Given the description of an element on the screen output the (x, y) to click on. 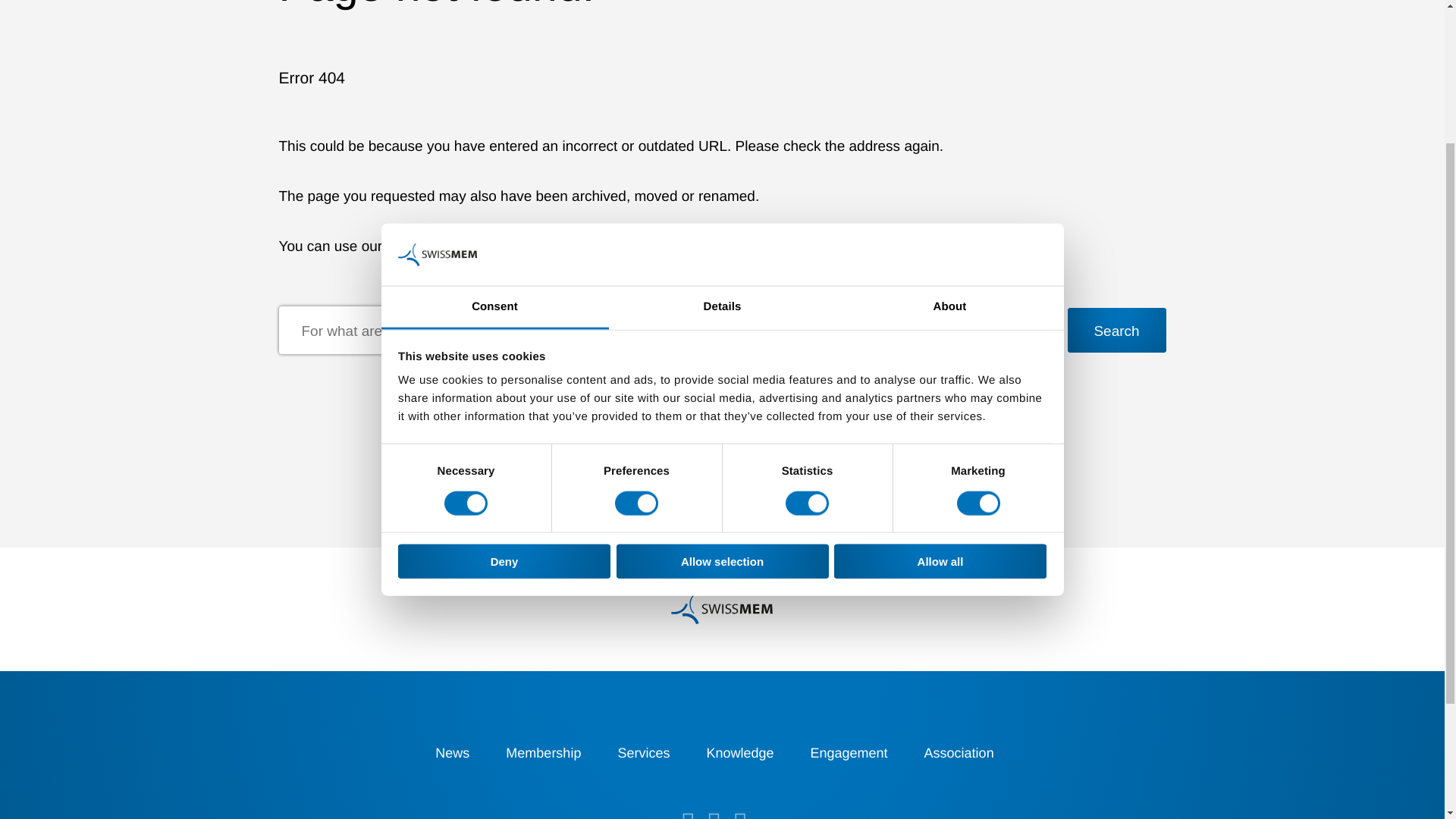
Deny (503, 367)
About (948, 114)
Details (721, 114)
Allow selection (721, 367)
Allow all (940, 367)
Consent (494, 114)
